Given the description of an element on the screen output the (x, y) to click on. 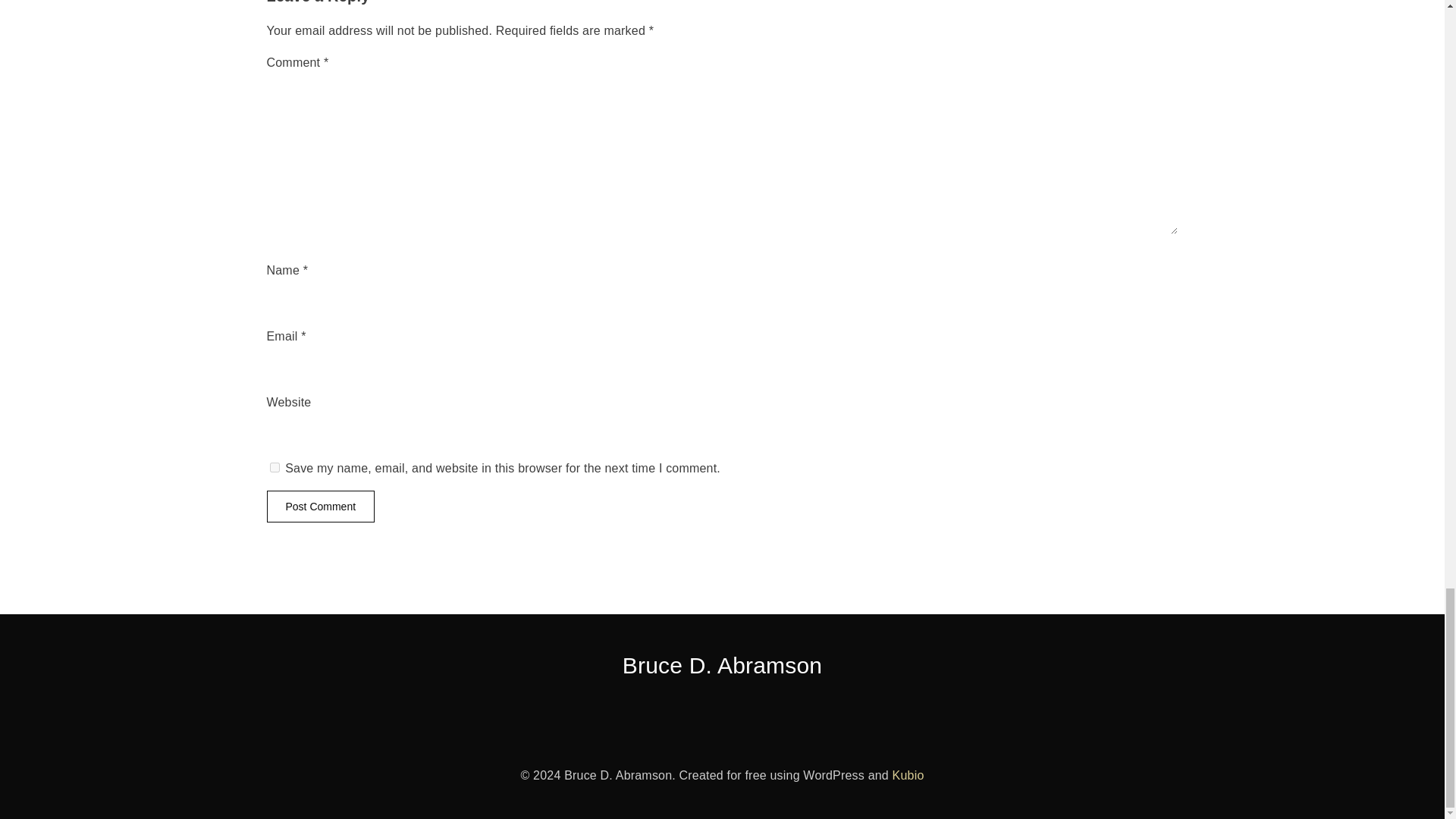
Post Comment (320, 506)
yes (274, 467)
Kubio (908, 775)
Bruce D. Abramson (722, 665)
Post Comment (320, 506)
